Given the description of an element on the screen output the (x, y) to click on. 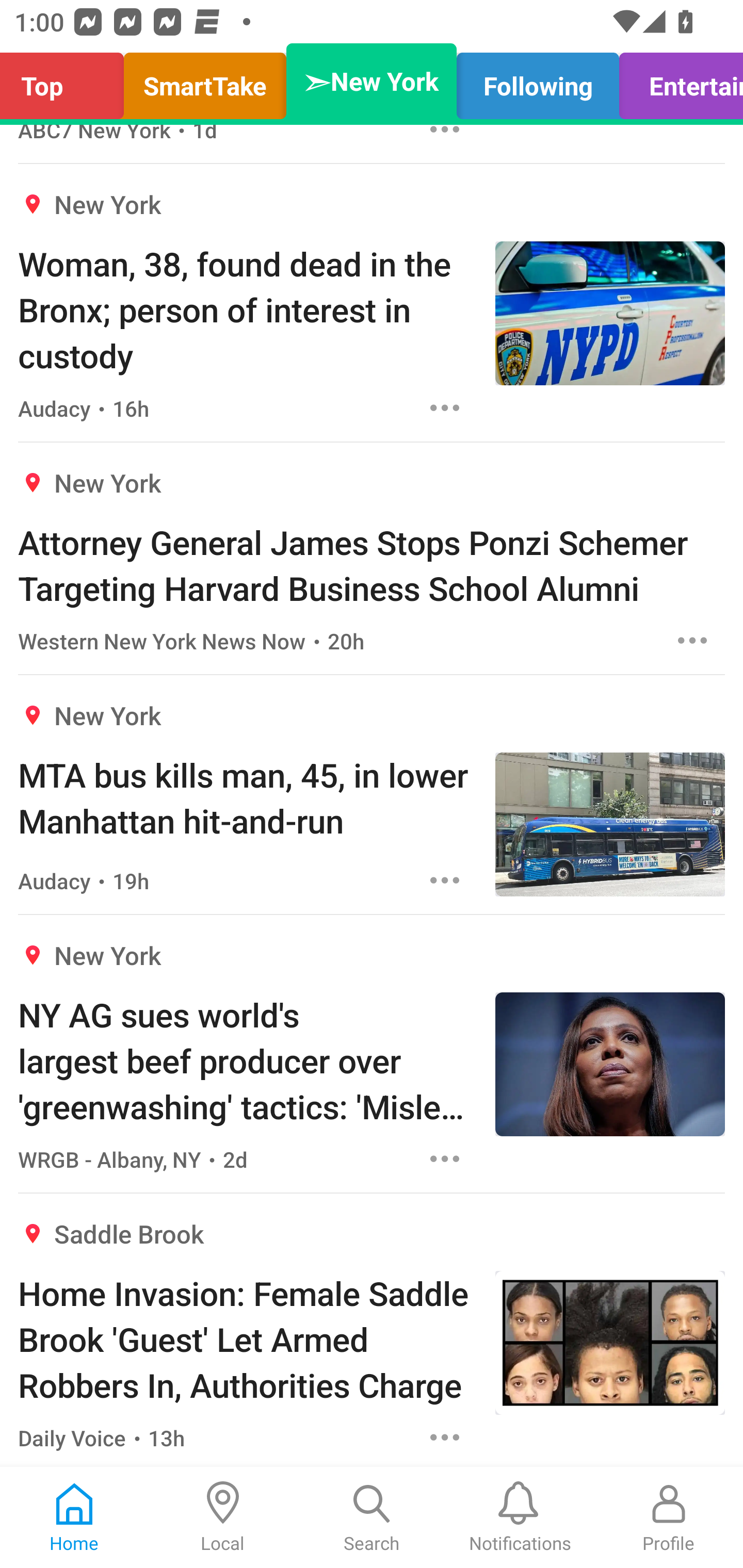
Top (67, 81)
SmartTake (204, 81)
➣New York (371, 81)
Following (537, 81)
Options (444, 407)
Options (692, 640)
Options (444, 880)
Options (444, 1158)
Options (444, 1437)
Local (222, 1517)
Search (371, 1517)
Notifications (519, 1517)
Profile (668, 1517)
